Given the description of an element on the screen output the (x, y) to click on. 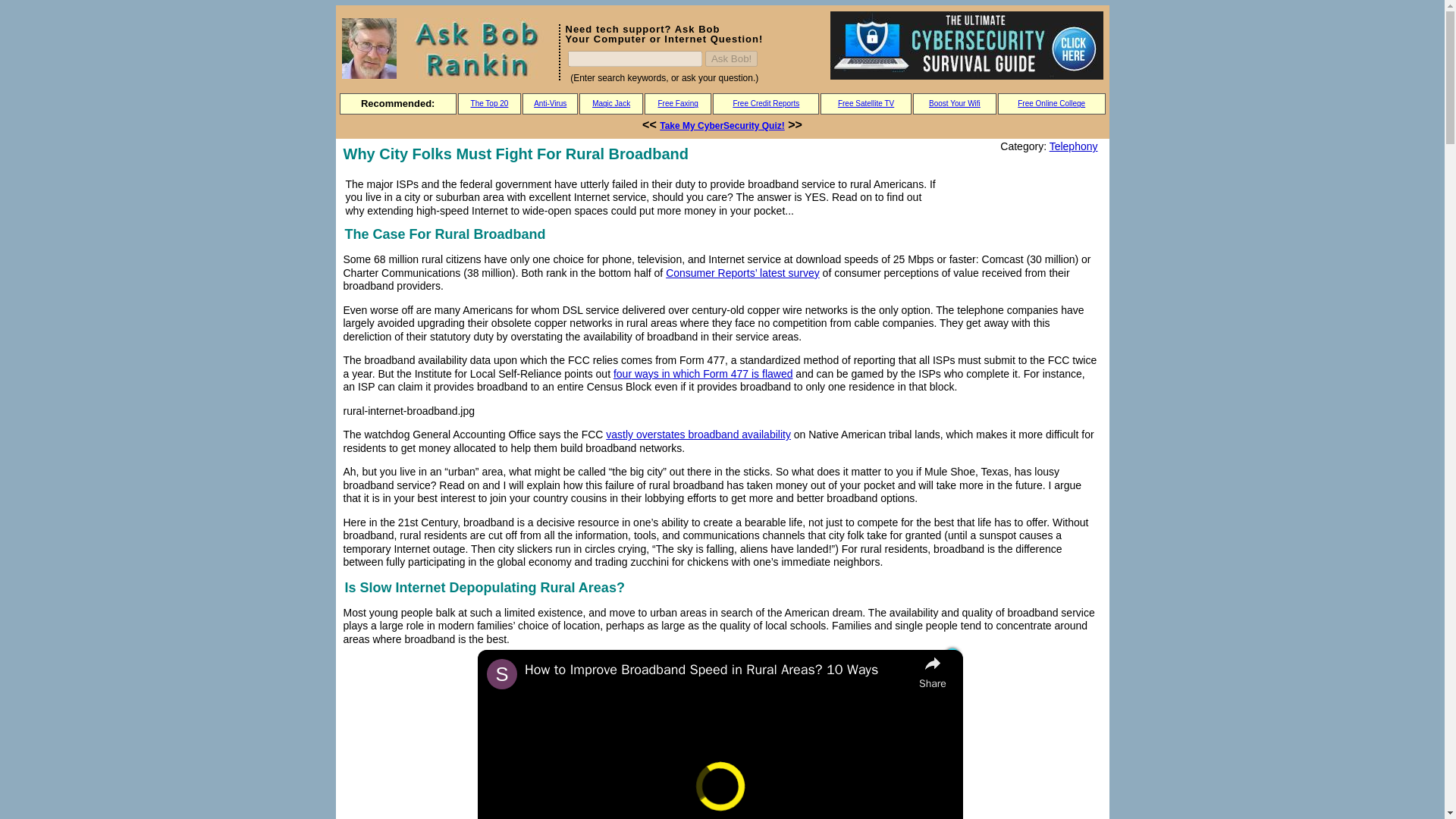
The Top 20 (489, 103)
free tech support (368, 48)
computer help (477, 48)
Ask Bob! (730, 58)
Ask Bob! (730, 58)
Anti-Virus (550, 103)
Magic Jack (611, 103)
Free Faxing (677, 103)
